Given the description of an element on the screen output the (x, y) to click on. 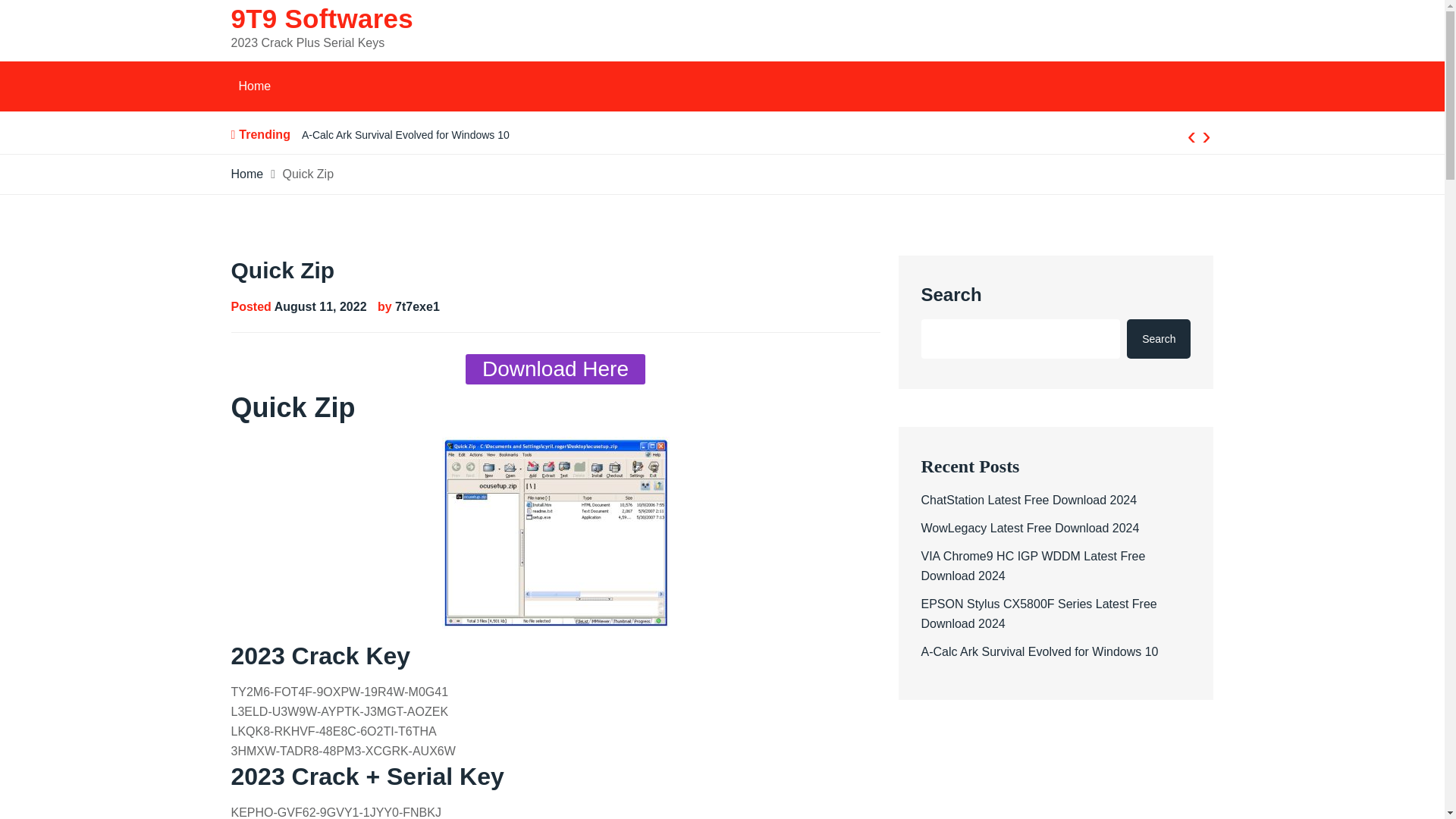
EPSON Stylus CX5800F Series Latest Free Download 2024 (1038, 613)
A-Calc Ark Survival Evolved for Windows 10 (1038, 651)
August 11, 2022 (320, 306)
VIA Chrome9 HC IGP WDDM Latest Free Download 2024 (1032, 565)
WowLegacy Latest Free Download 2024 (1029, 527)
Download Here (555, 368)
ChatStation Latest Free Download 2024 (1028, 499)
A-Calc Ark Survival Evolved for Windows 10 (405, 134)
Home (246, 173)
Home (254, 86)
9T9 Softwares (321, 18)
Search (1158, 338)
7t7exe1 (416, 306)
